Given the description of an element on the screen output the (x, y) to click on. 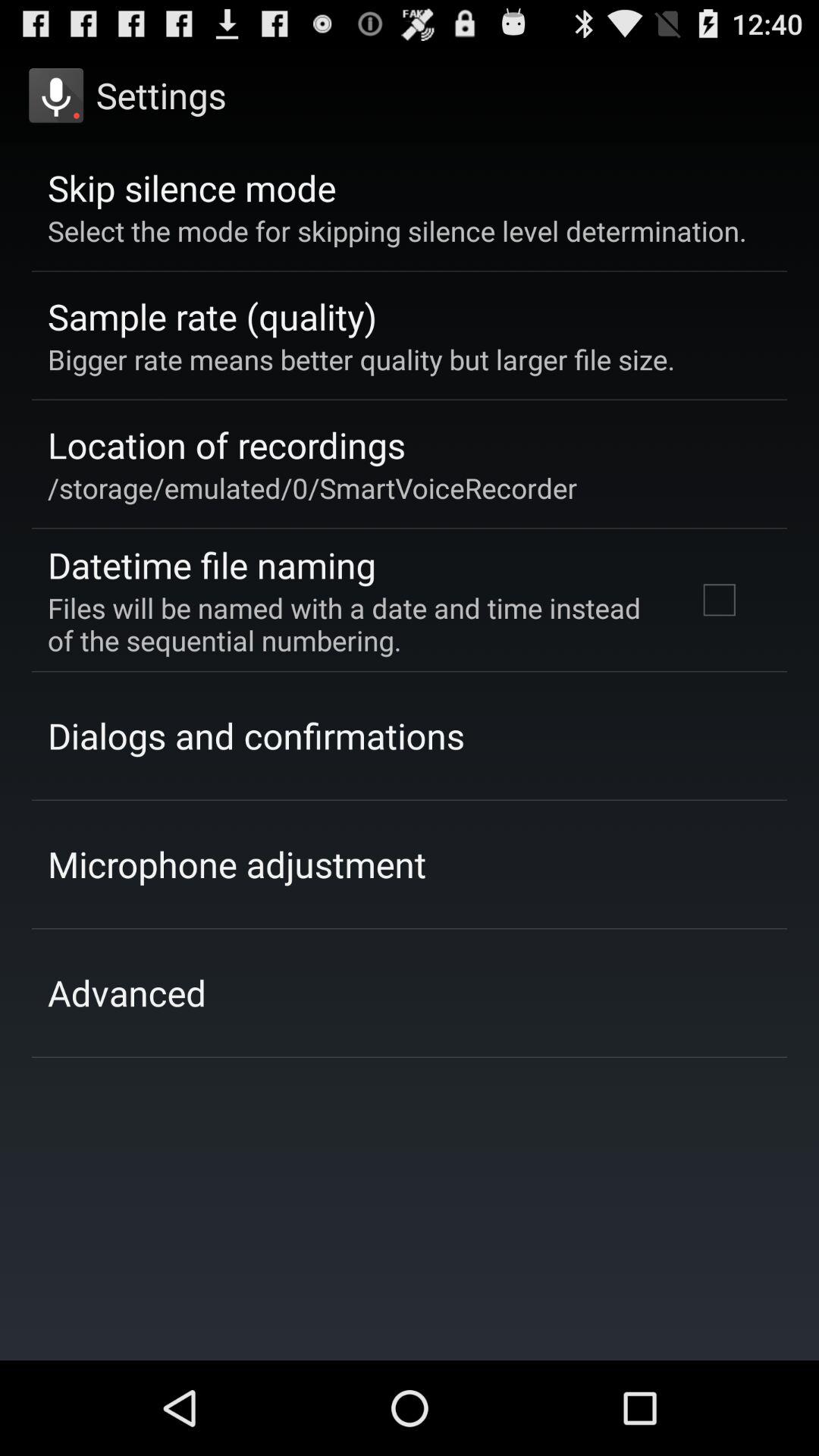
turn on the select the mode icon (396, 230)
